Given the description of an element on the screen output the (x, y) to click on. 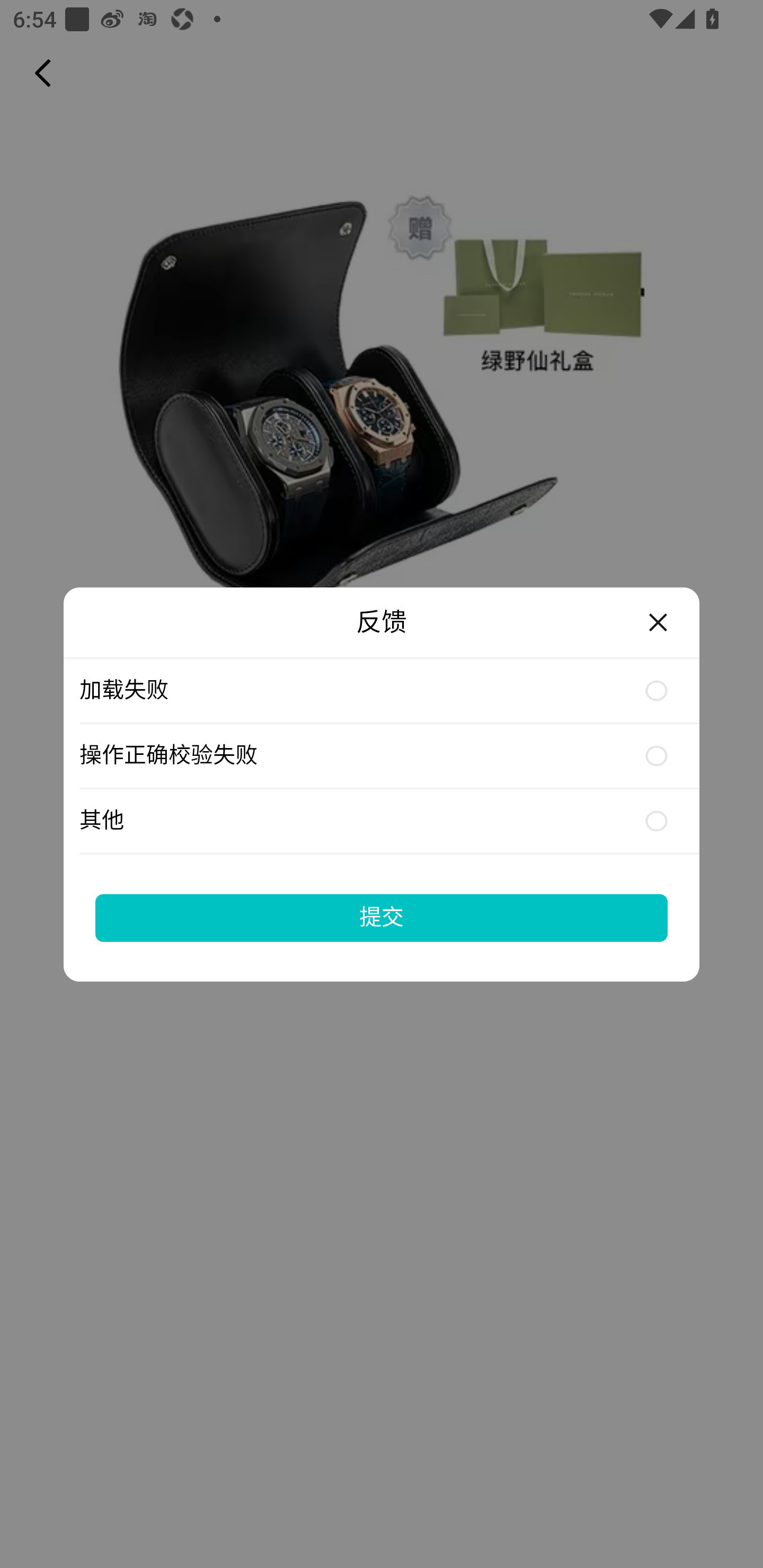
提交 (381, 917)
